Given the description of an element on the screen output the (x, y) to click on. 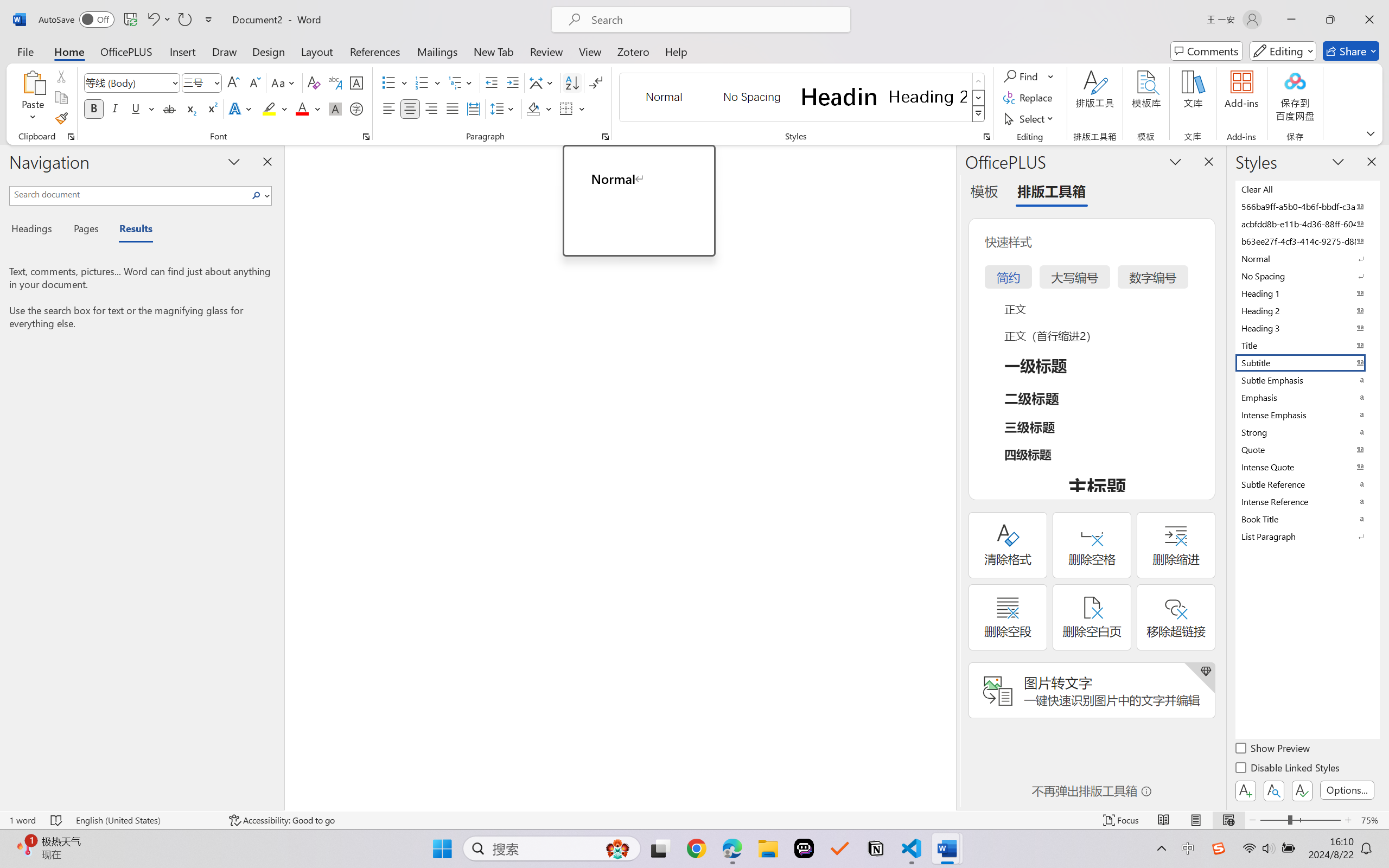
Distributed (473, 108)
Headings (35, 229)
Tell me more (649, 243)
Search (259, 195)
